Given the description of an element on the screen output the (x, y) to click on. 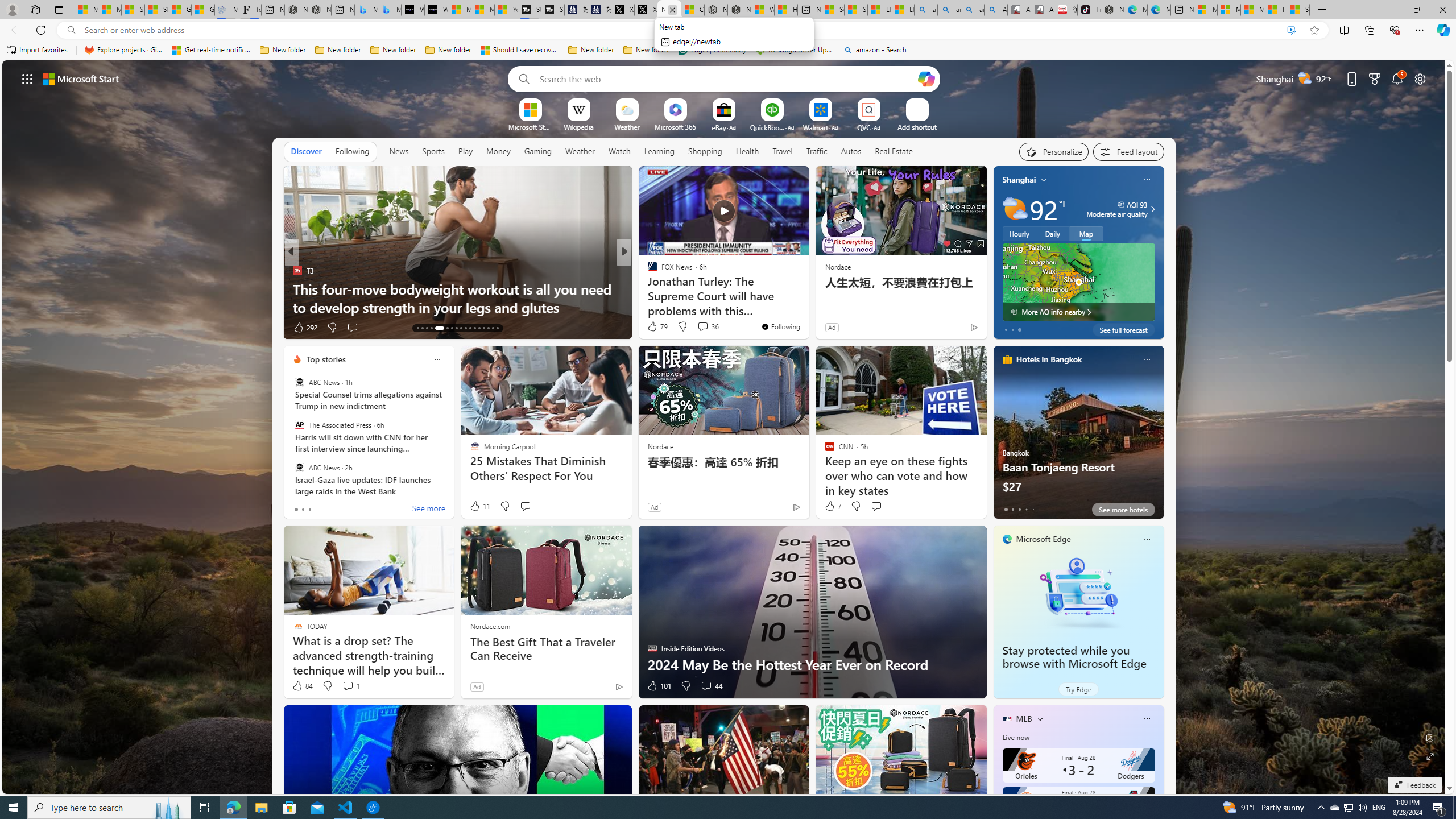
Close tab (672, 9)
More options (1146, 718)
79 Like (657, 326)
Nordace.com (490, 625)
Microsoft Start (1252, 9)
Axios (647, 270)
View comments 17 Comment (703, 327)
